Given the description of an element on the screen output the (x, y) to click on. 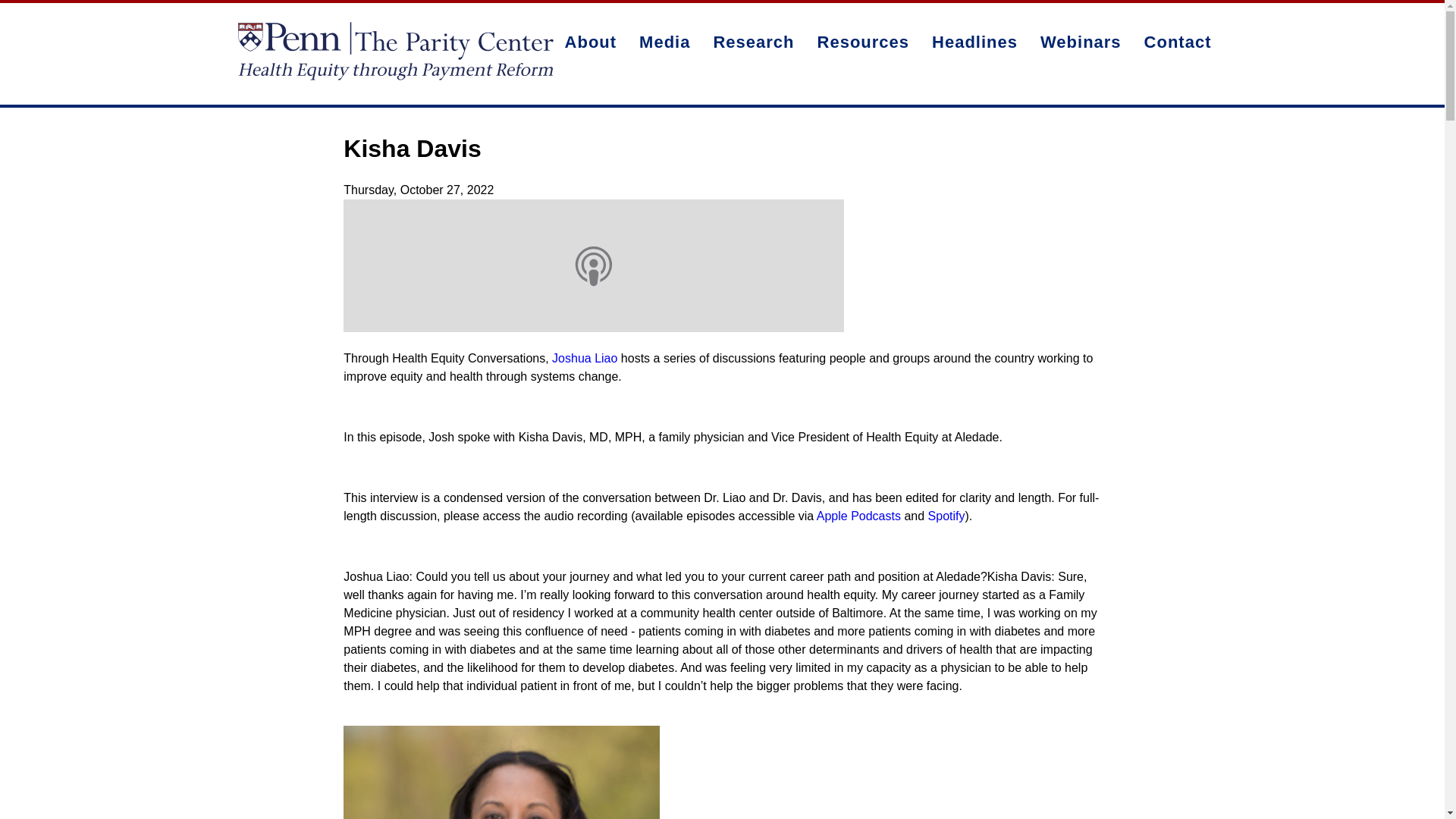
Apple Podcasts (858, 515)
Webinars (1080, 41)
Joshua Liao (584, 358)
Media (664, 41)
About (590, 41)
Spotify (946, 515)
Resources (863, 41)
Contact (1177, 41)
Headlines (974, 41)
Research (753, 41)
